Given the description of an element on the screen output the (x, y) to click on. 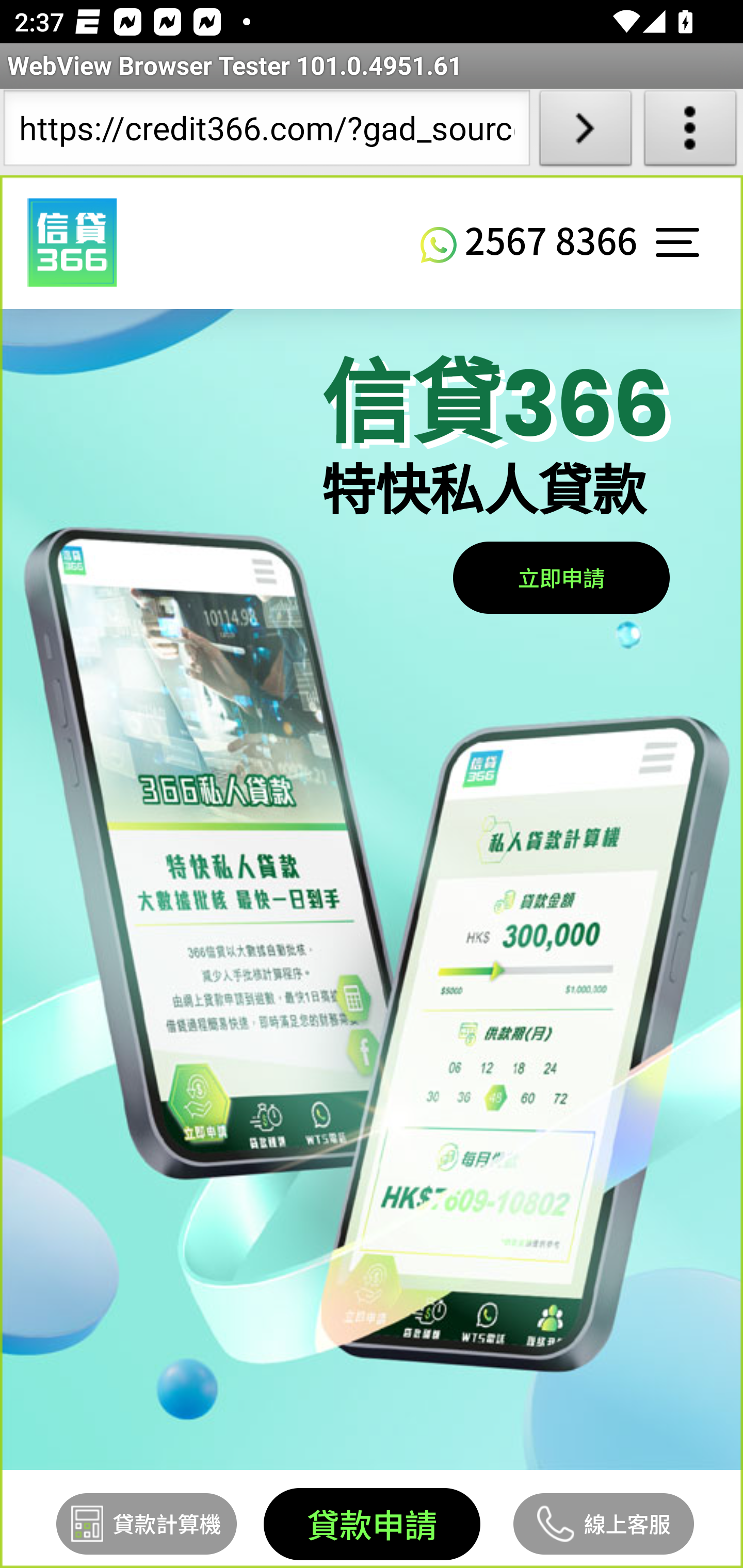
Load URL (585, 132)
About WebView (690, 132)
logo (71, 242)
 2567 8366 whatsapp   2567 8366 (528, 238)
立即申請 (560, 576)
貸款申請 (370, 1523)
   貸款計算機 icon_calculater    貸款計算機 (146, 1523)
   線上客服 icon_phone    線上客服 (603, 1523)
